Given the description of an element on the screen output the (x, y) to click on. 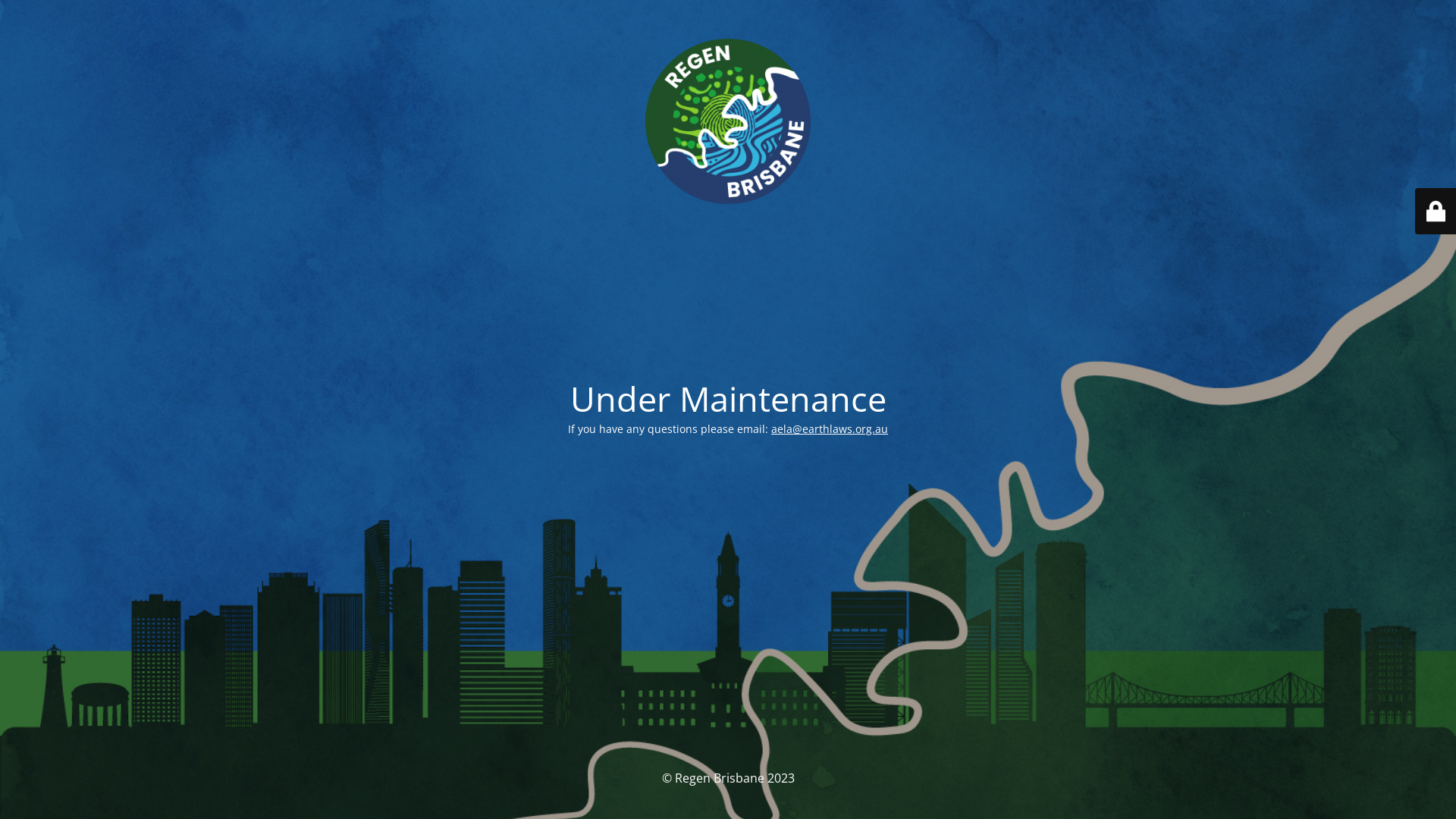
aela@earthlaws.org.au Element type: text (829, 428)
